Given the description of an element on the screen output the (x, y) to click on. 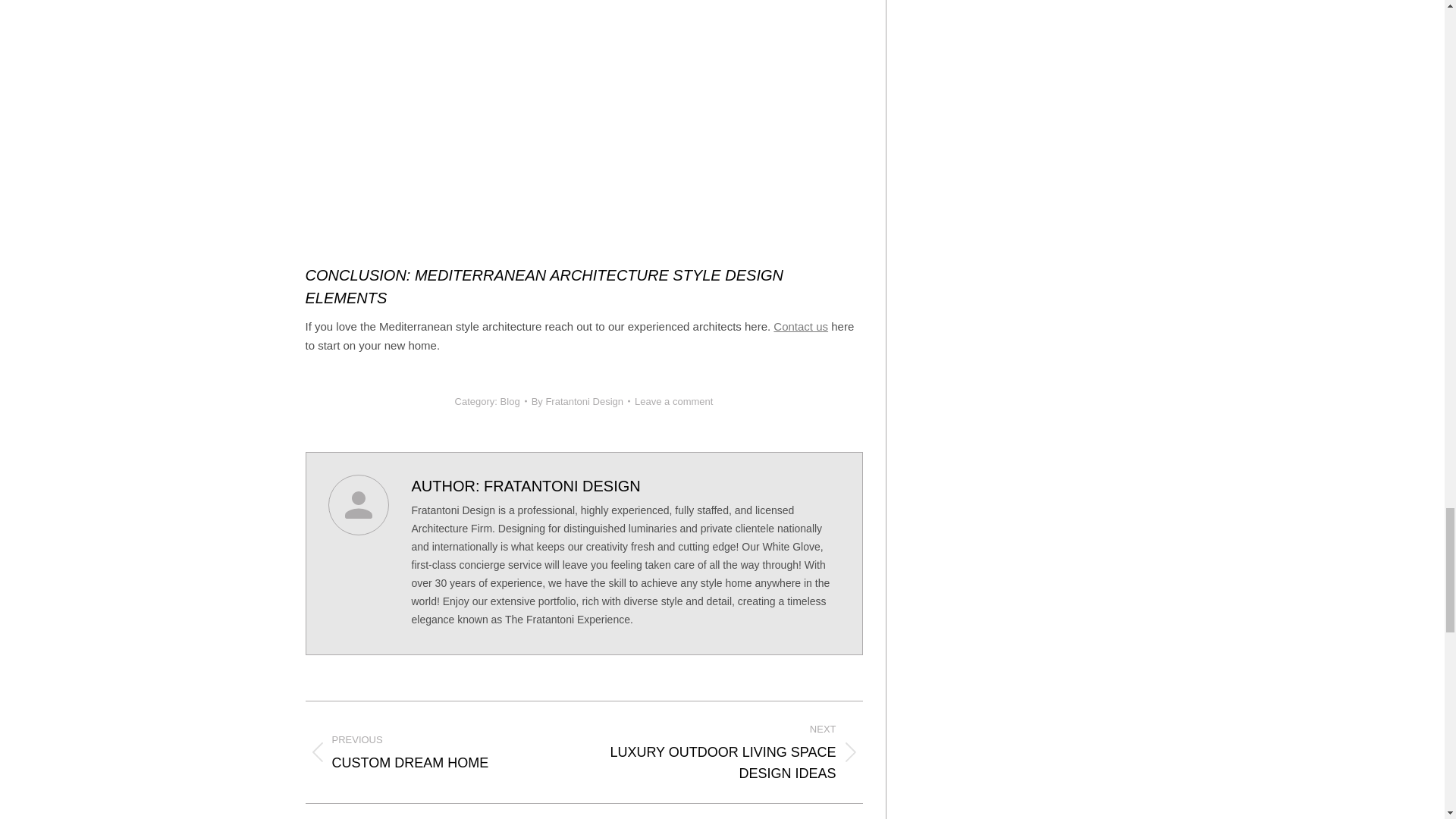
By Fratantoni Design (580, 401)
View all posts by Fratantoni Design (580, 401)
Better Bath Pic (432, 751)
Blog (735, 751)
Leave a comment (800, 326)
